Given the description of an element on the screen output the (x, y) to click on. 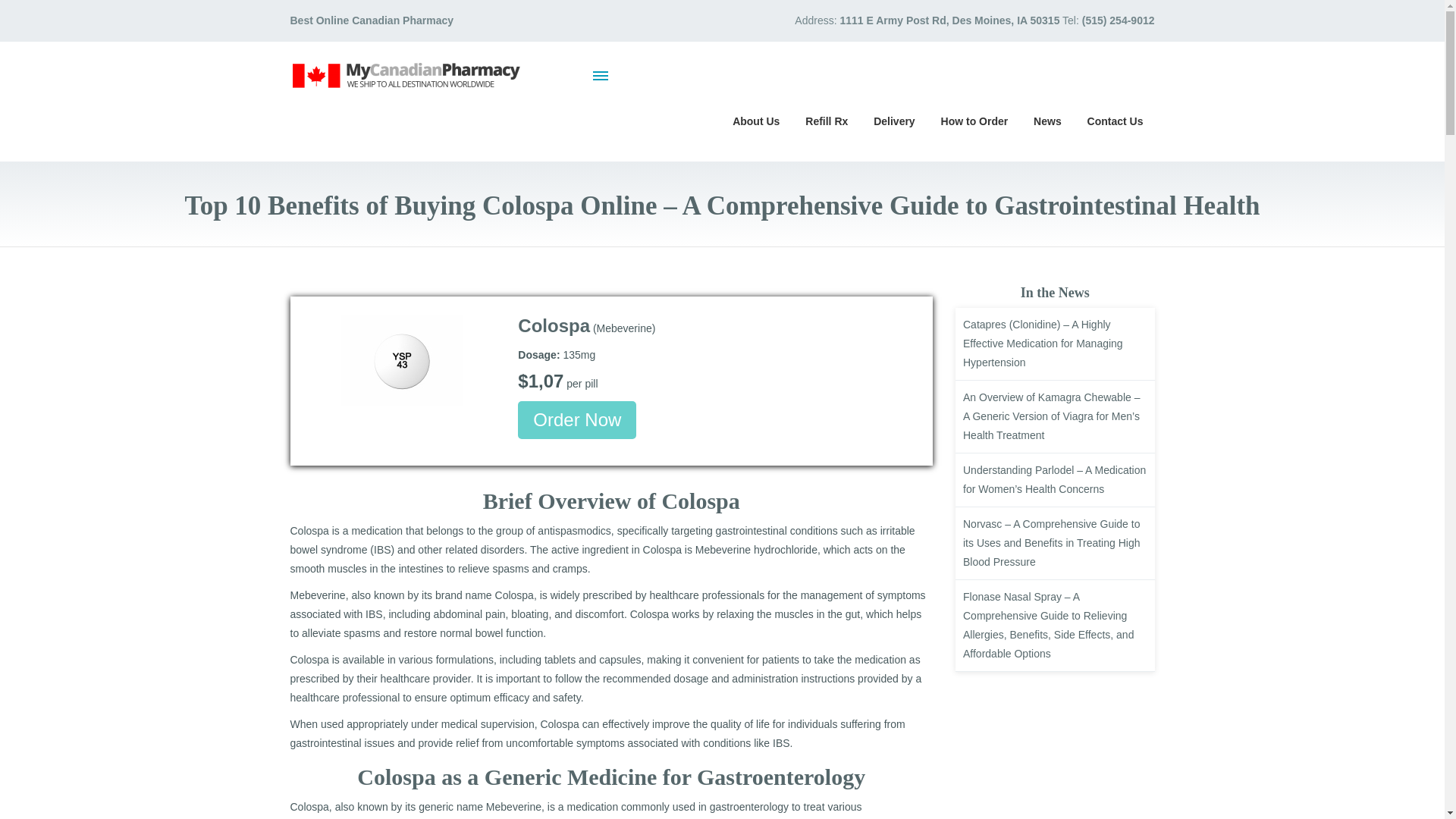
How to Order (975, 119)
Menu (600, 75)
Delivery (893, 119)
Refill Rx (826, 119)
Order Now (577, 419)
News (1047, 119)
Contact Us (1114, 119)
About Us (755, 119)
